Given the description of an element on the screen output the (x, y) to click on. 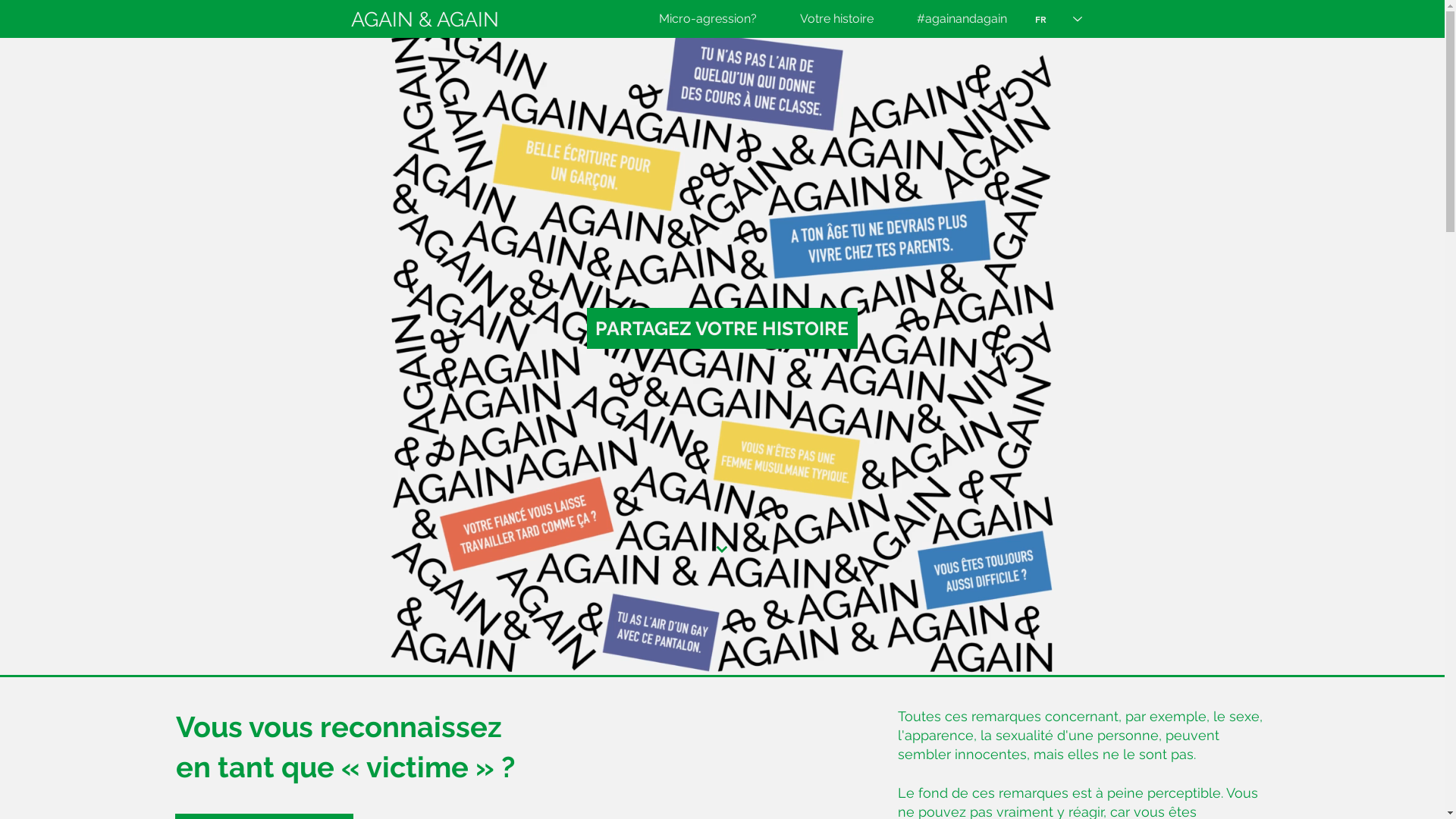
#againandagain Element type: text (950, 18)
PARTAGEZ VOTRE HISTOIRE Element type: text (721, 327)
Votre histoire Element type: text (825, 18)
Micro-agression? Element type: text (696, 18)
